Given the description of an element on the screen output the (x, y) to click on. 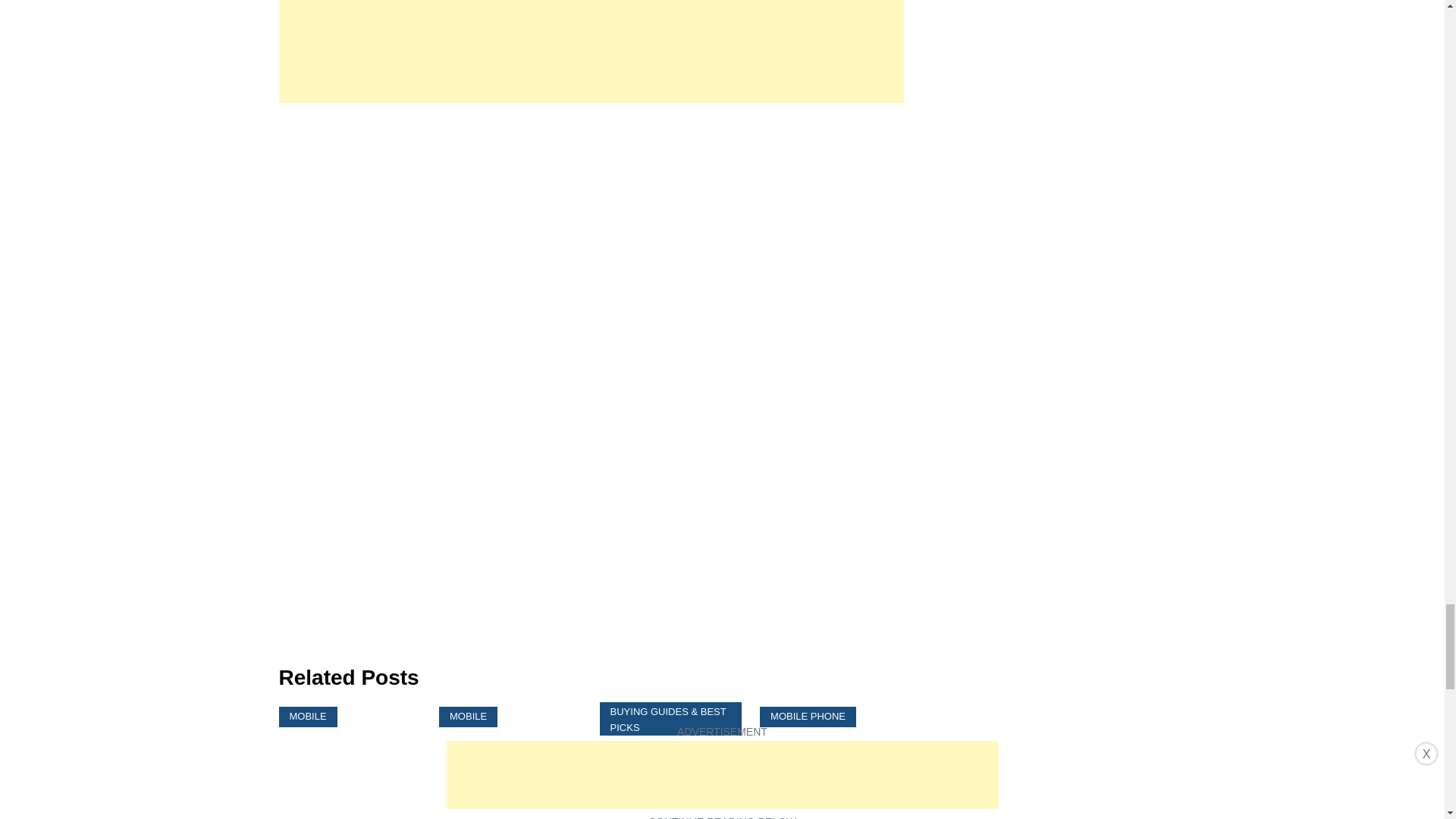
Share on facebook (291, 633)
Share on twitter (321, 633)
Share on Instagram (351, 633)
